Given the description of an element on the screen output the (x, y) to click on. 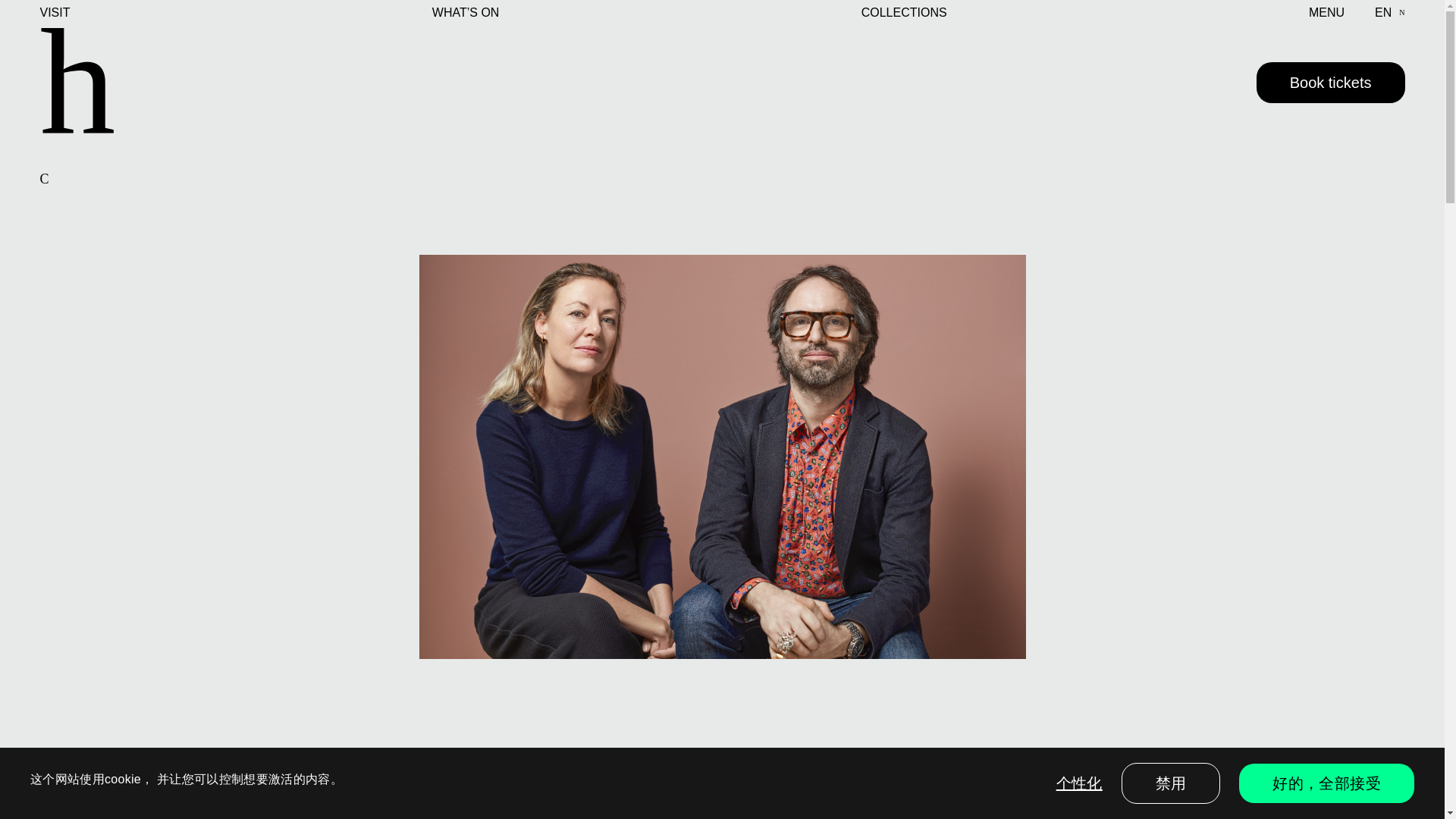
VISIT (54, 13)
Open the menu (1325, 13)
